Given the description of an element on the screen output the (x, y) to click on. 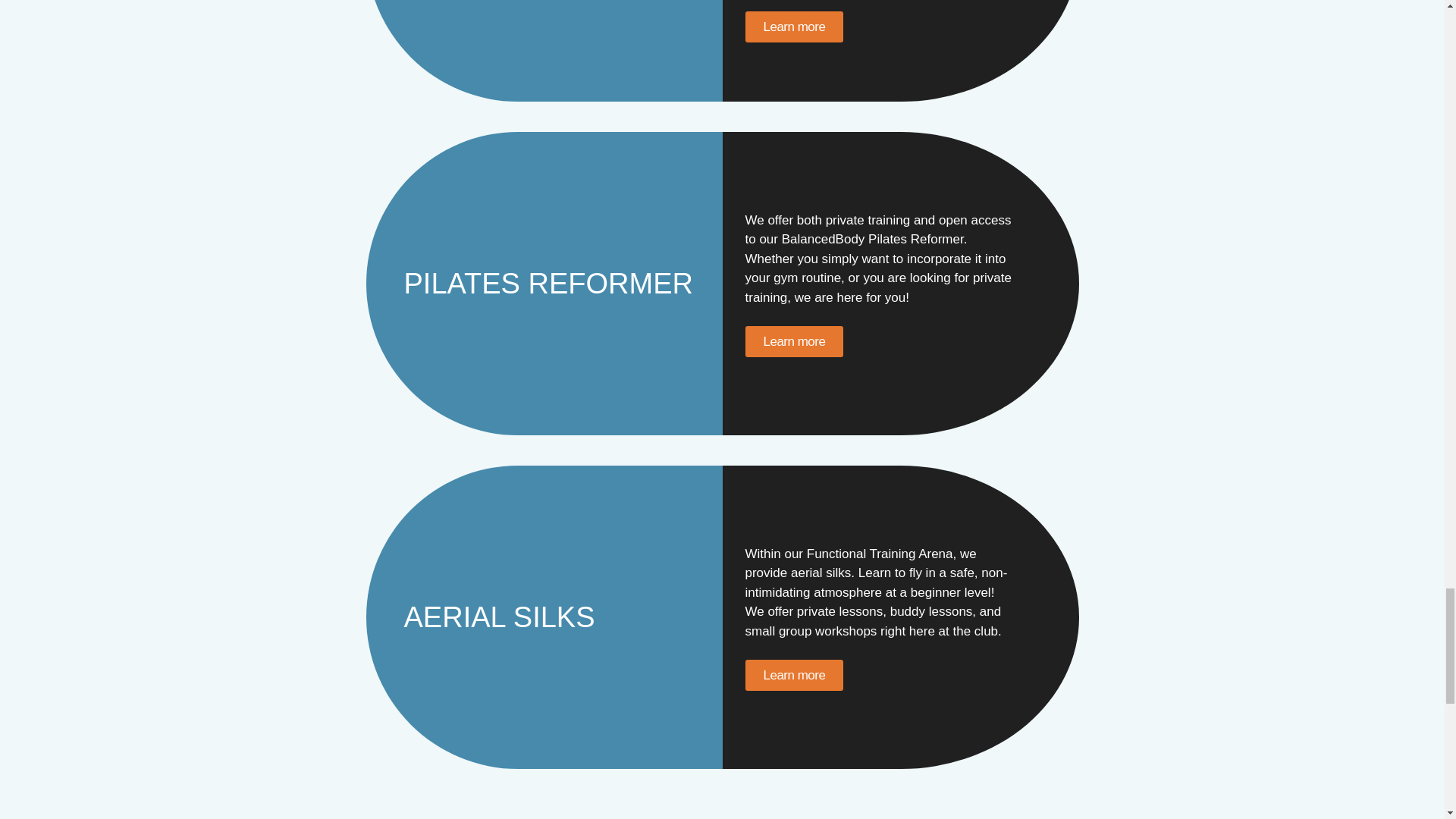
Learn more (793, 675)
Learn more (793, 341)
Learn more (793, 26)
